Given the description of an element on the screen output the (x, y) to click on. 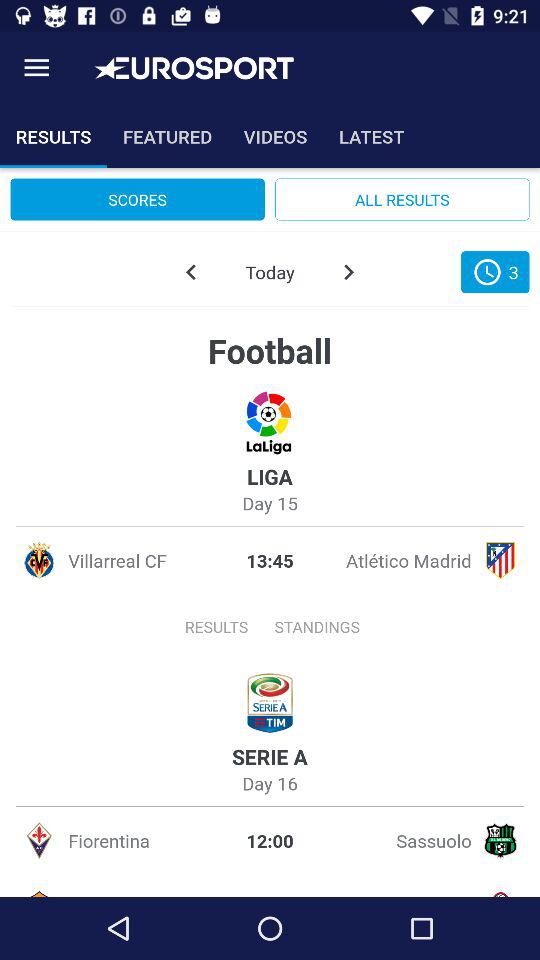
press item next to the all results (137, 199)
